Given the description of an element on the screen output the (x, y) to click on. 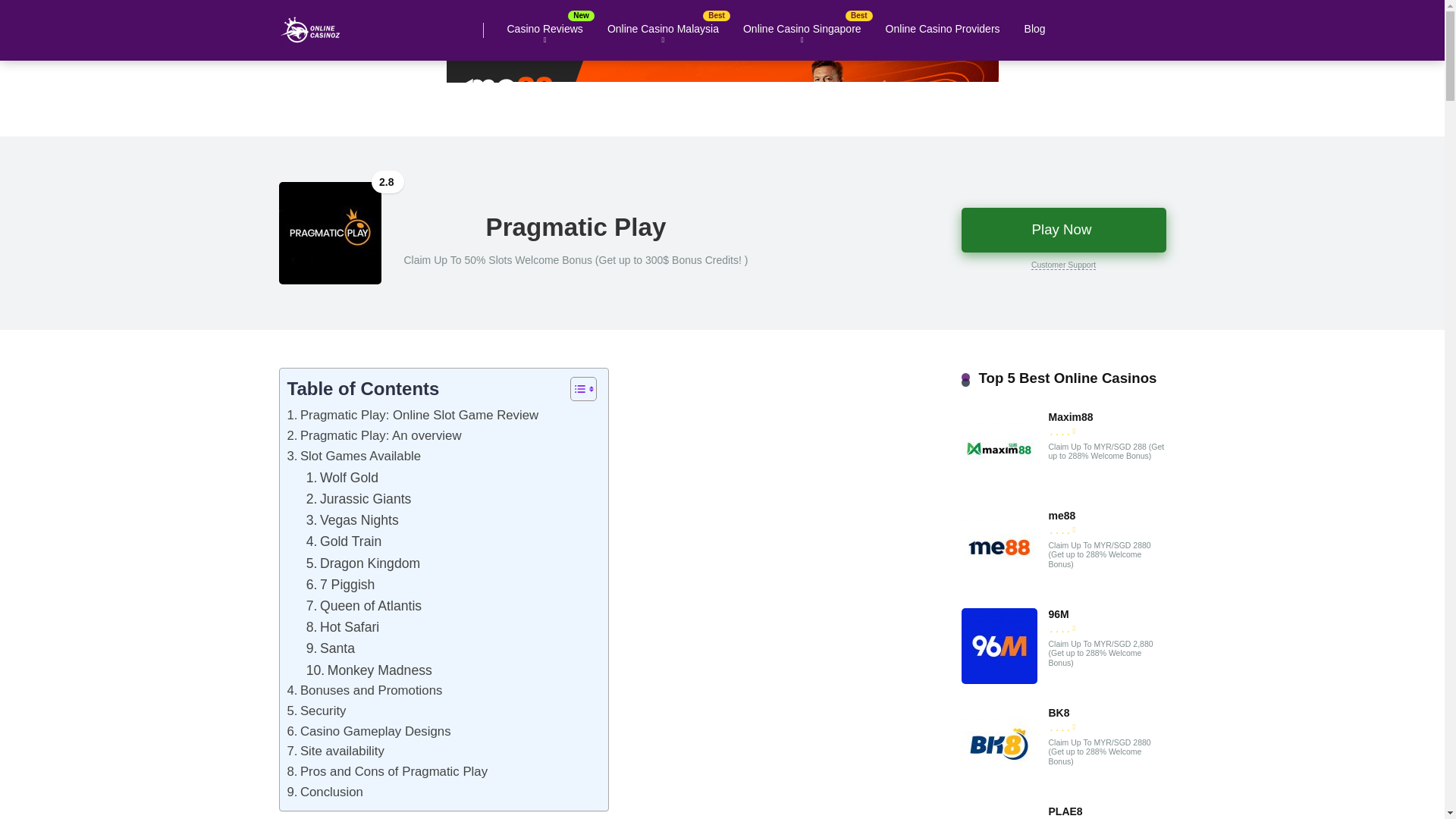
Monkey Madness (368, 670)
Online Casinoz (311, 24)
Hot Safari (342, 627)
Gold Train (343, 541)
Bonuses and Promotions (364, 690)
Santa (330, 648)
Jurassic Giants (358, 498)
Vegas Nights (351, 519)
Slot Games Available (353, 456)
Bonuses and Promotions (364, 690)
Online Casino Singapore (801, 29)
Gold Train (343, 541)
Play Now (1063, 229)
Monkey Madness (368, 670)
Dragon Kingdom (362, 562)
